Given the description of an element on the screen output the (x, y) to click on. 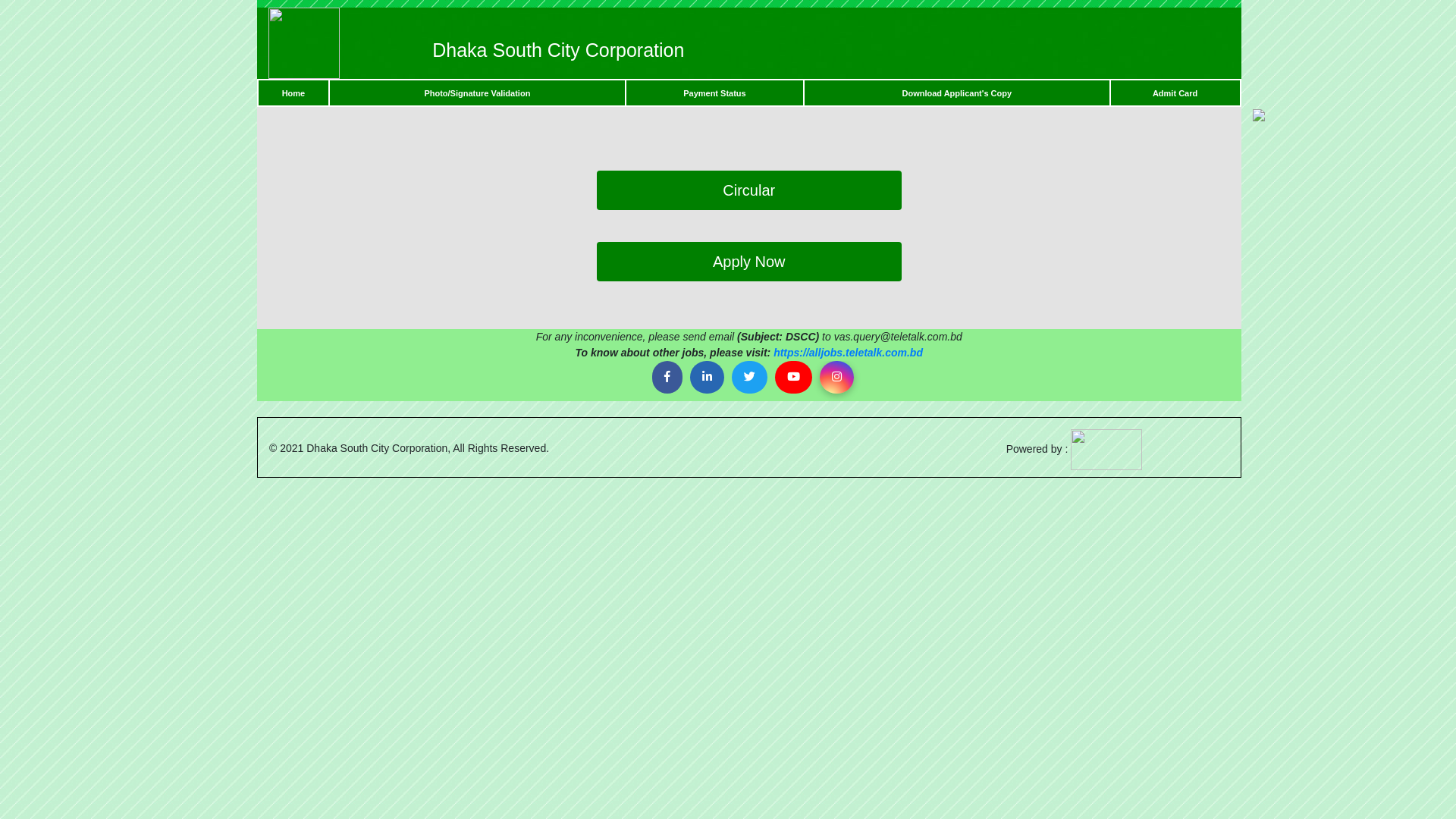
Linkedin Element type: hover (707, 376)
Apply Now Element type: text (748, 261)
Home Element type: text (293, 92)
Facebook Element type: hover (667, 376)
Photo/Signature Validation Element type: text (476, 92)
Youtube Element type: hover (793, 376)
https://alljobs.teletalk.com.bd Element type: text (847, 352)
Twitter Element type: hover (749, 376)
Payment Status Element type: text (714, 92)
Circular Element type: text (748, 190)
Instagram Element type: hover (836, 376)
Admit Card Element type: text (1174, 92)
Download Applicant's Copy Element type: text (956, 92)
